Given the description of an element on the screen output the (x, y) to click on. 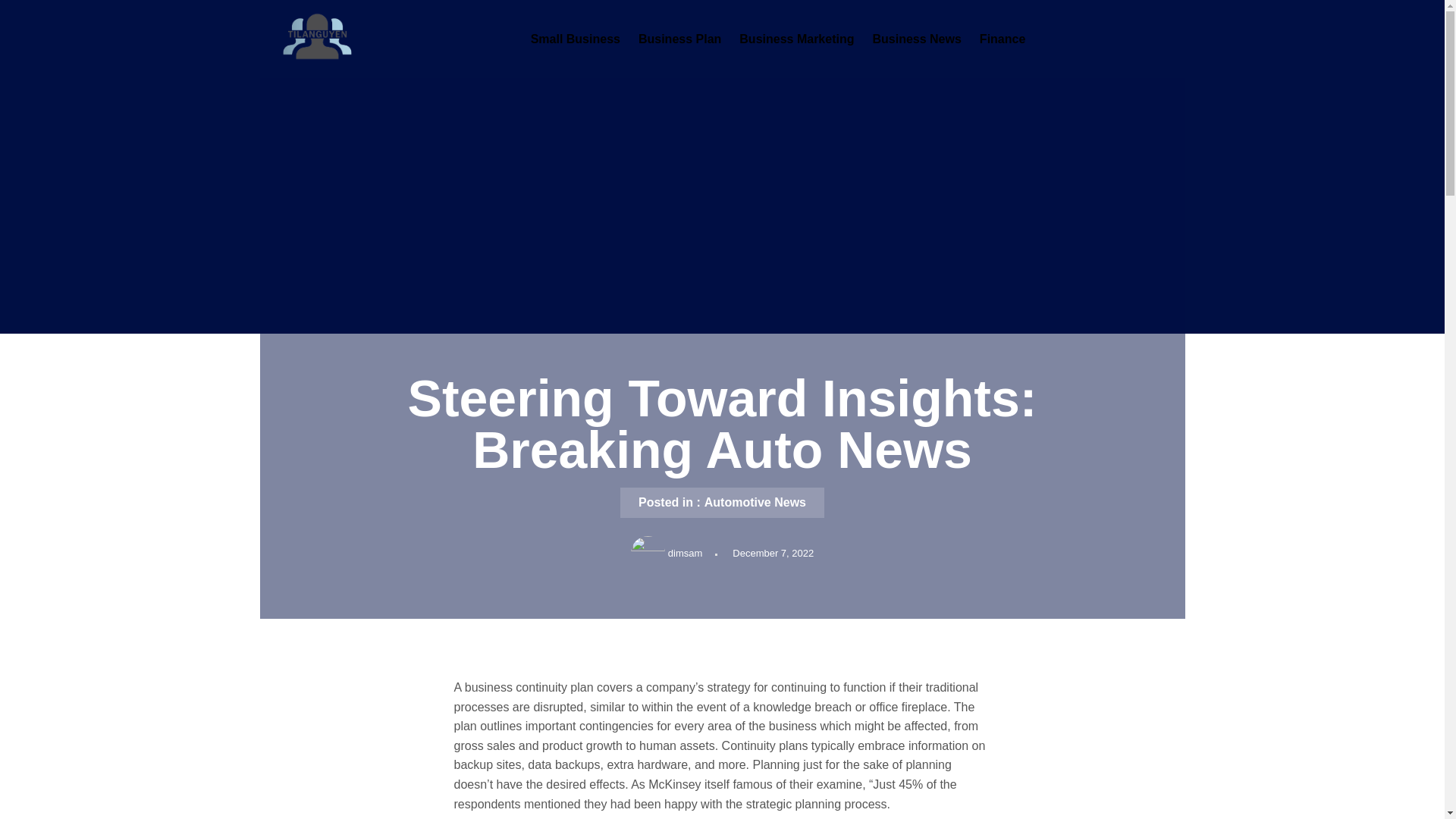
Small Business (575, 39)
Business Plan (679, 39)
Finance (1002, 39)
Business News (916, 39)
Automotive News (755, 502)
TLY (271, 78)
Business Marketing (796, 39)
